Given the description of an element on the screen output the (x, y) to click on. 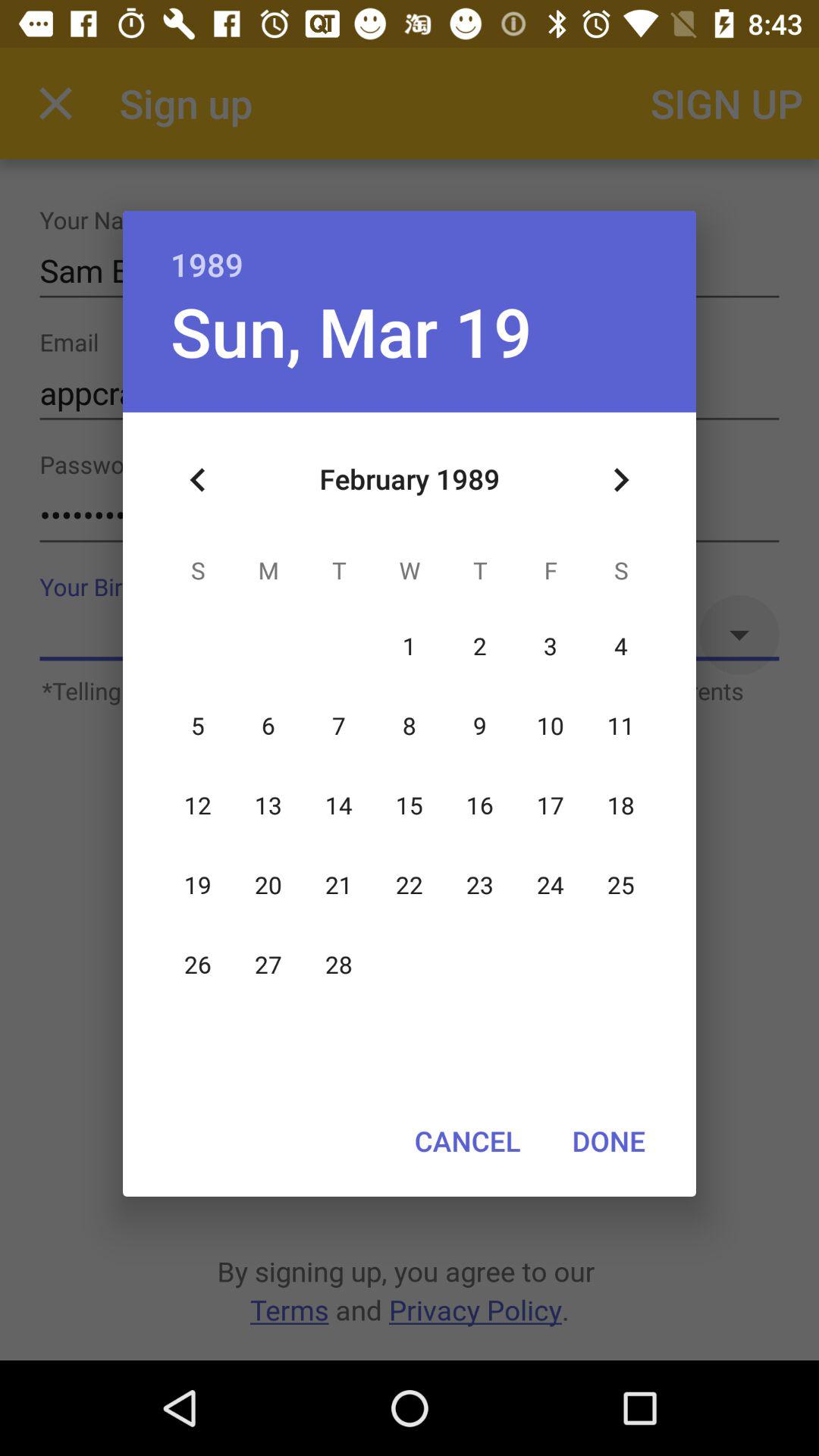
swipe until the cancel (467, 1140)
